Given the description of an element on the screen output the (x, y) to click on. 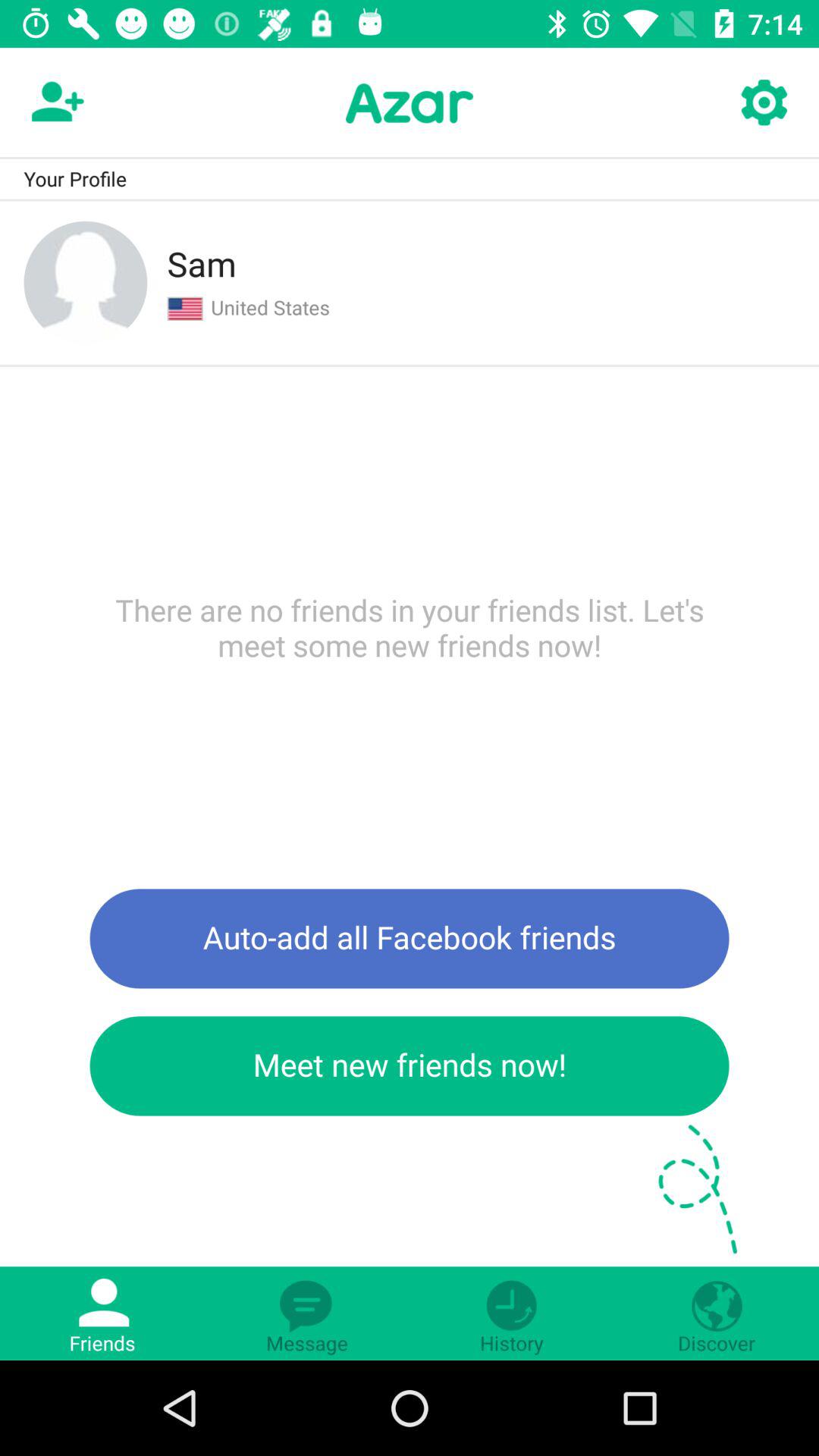
settings menu (763, 103)
